Given the description of an element on the screen output the (x, y) to click on. 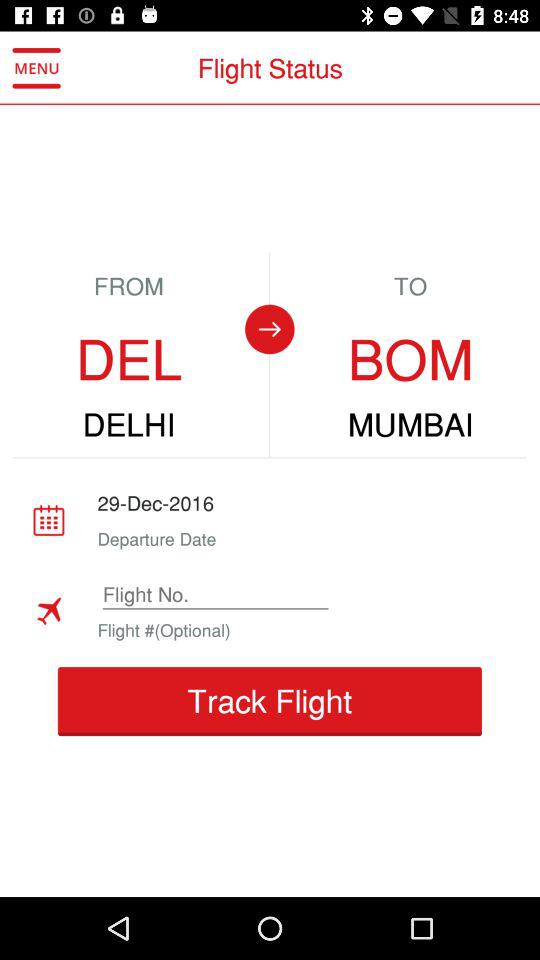
flip to bom icon (410, 359)
